Given the description of an element on the screen output the (x, y) to click on. 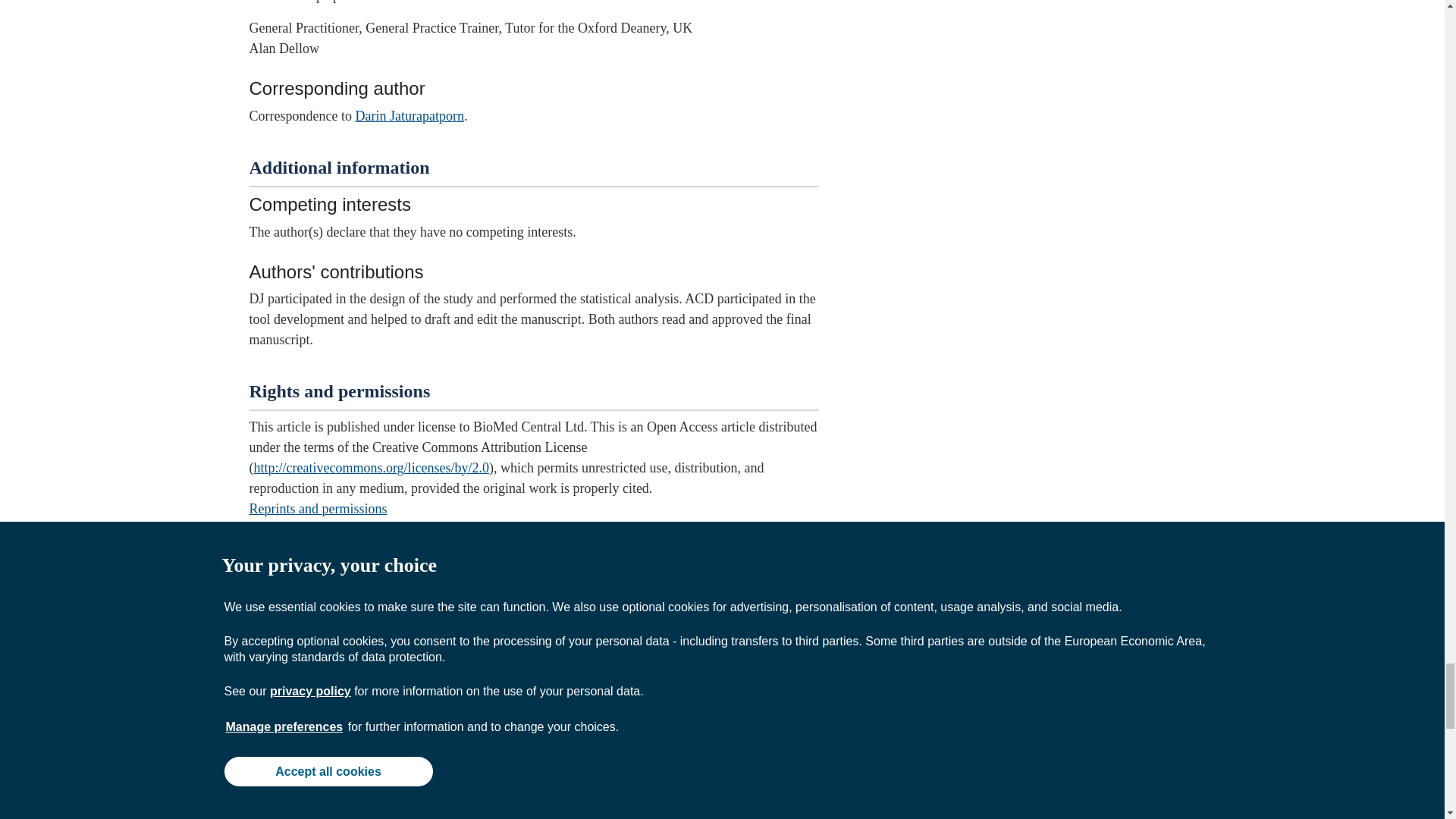
Digital Object Identifier (258, 768)
